Given the description of an element on the screen output the (x, y) to click on. 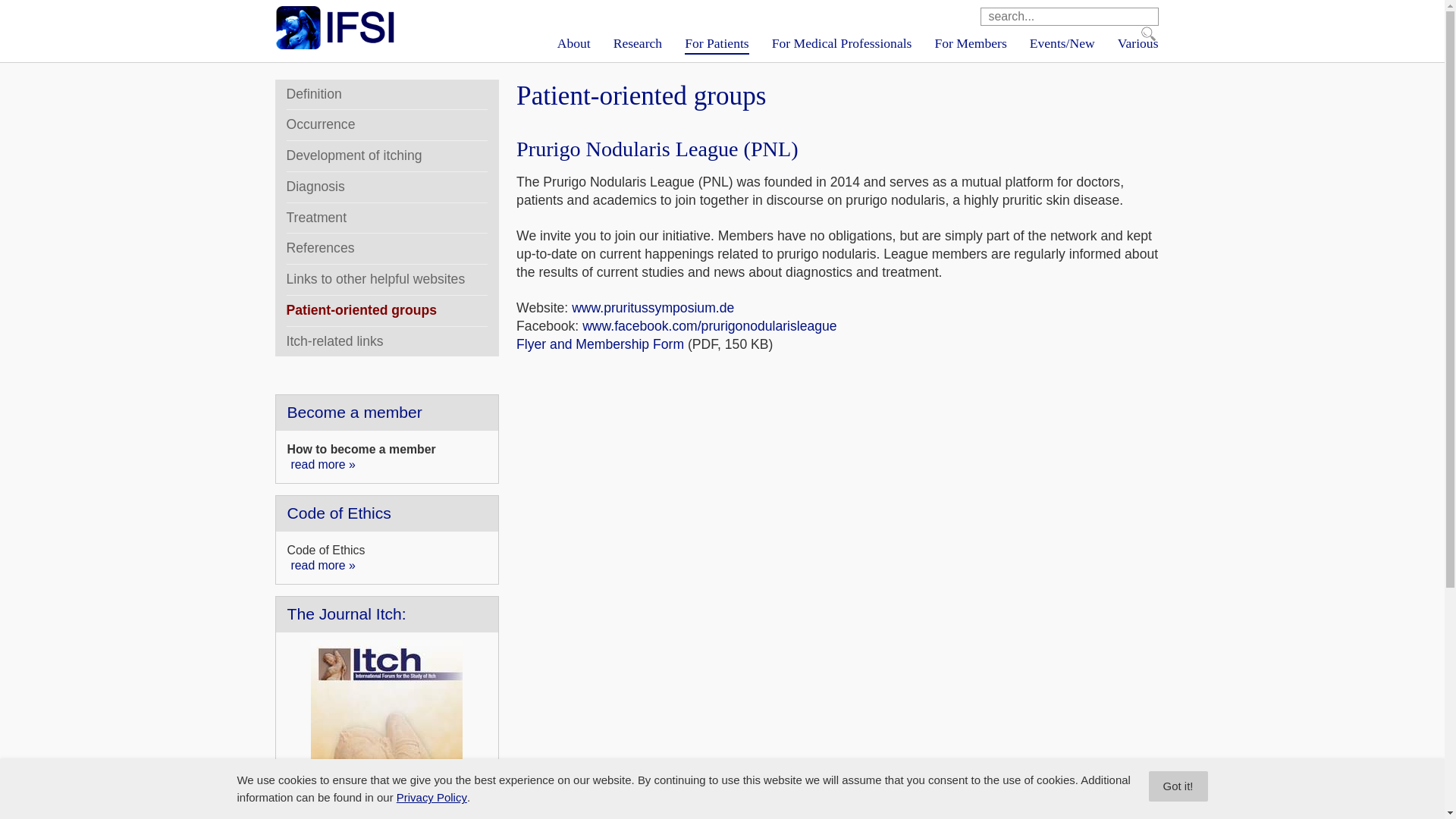
For Members (970, 43)
General info about IFSI (574, 43)
For Patients (716, 43)
For Medical Professionals (841, 43)
About (574, 43)
Research (637, 43)
Things to know about itching (716, 43)
Suchen (1148, 33)
Research (637, 43)
